Given the description of an element on the screen output the (x, y) to click on. 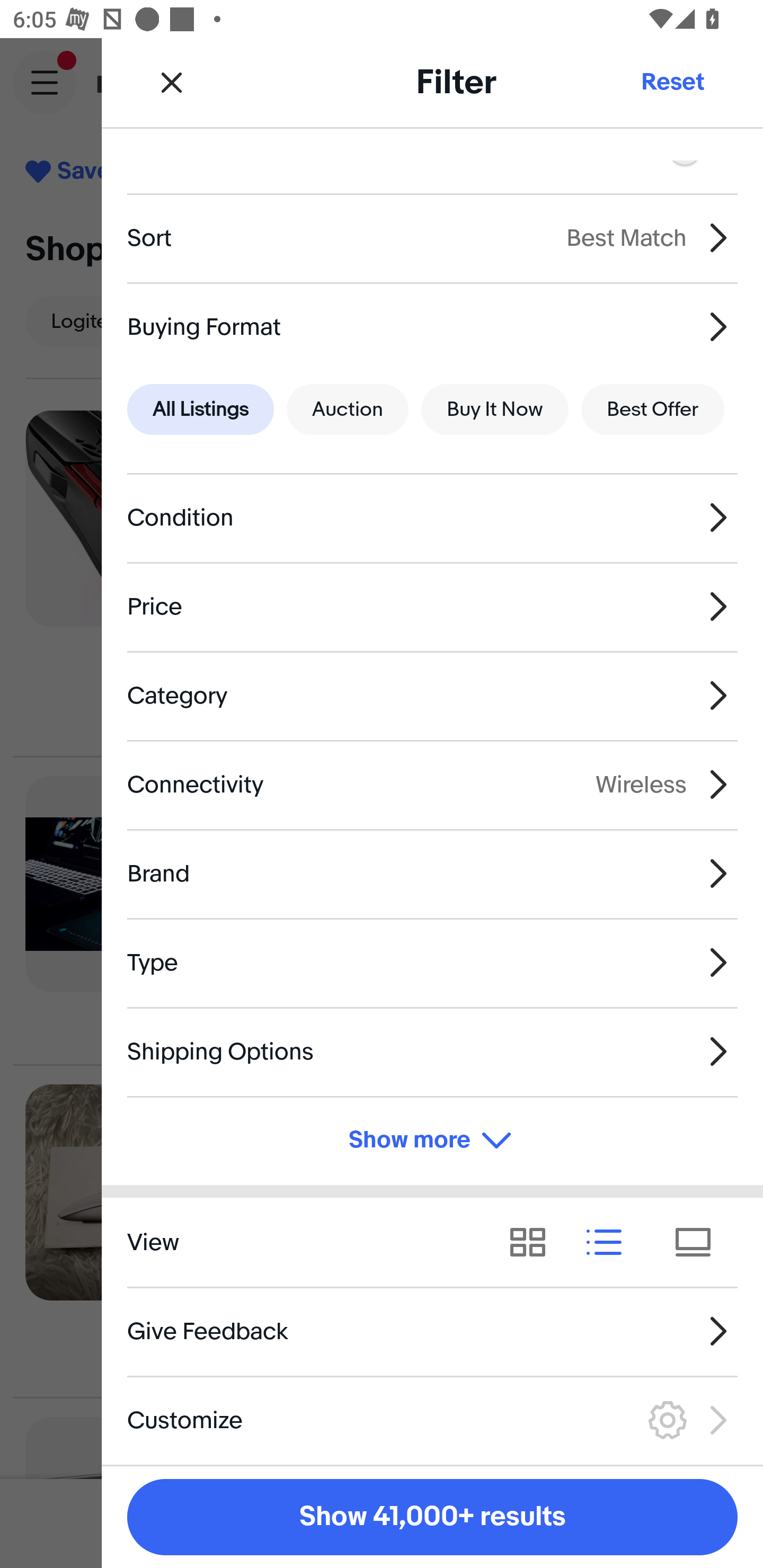
Close Filter (171, 81)
Reset (672, 81)
Buying Format (432, 326)
All Listings (200, 408)
Auction (347, 408)
Buy It Now (494, 408)
Best Offer (652, 408)
Condition (432, 517)
Price (432, 605)
Category (432, 695)
Connectivity Wireless (432, 784)
Brand (432, 873)
Type (432, 961)
Shipping Options (432, 1051)
Show more (432, 1140)
View results as grid (533, 1242)
View results as list (610, 1242)
View results as tiles (699, 1242)
Customize (432, 1419)
Show 41,000+ results (432, 1516)
